Given the description of an element on the screen output the (x, y) to click on. 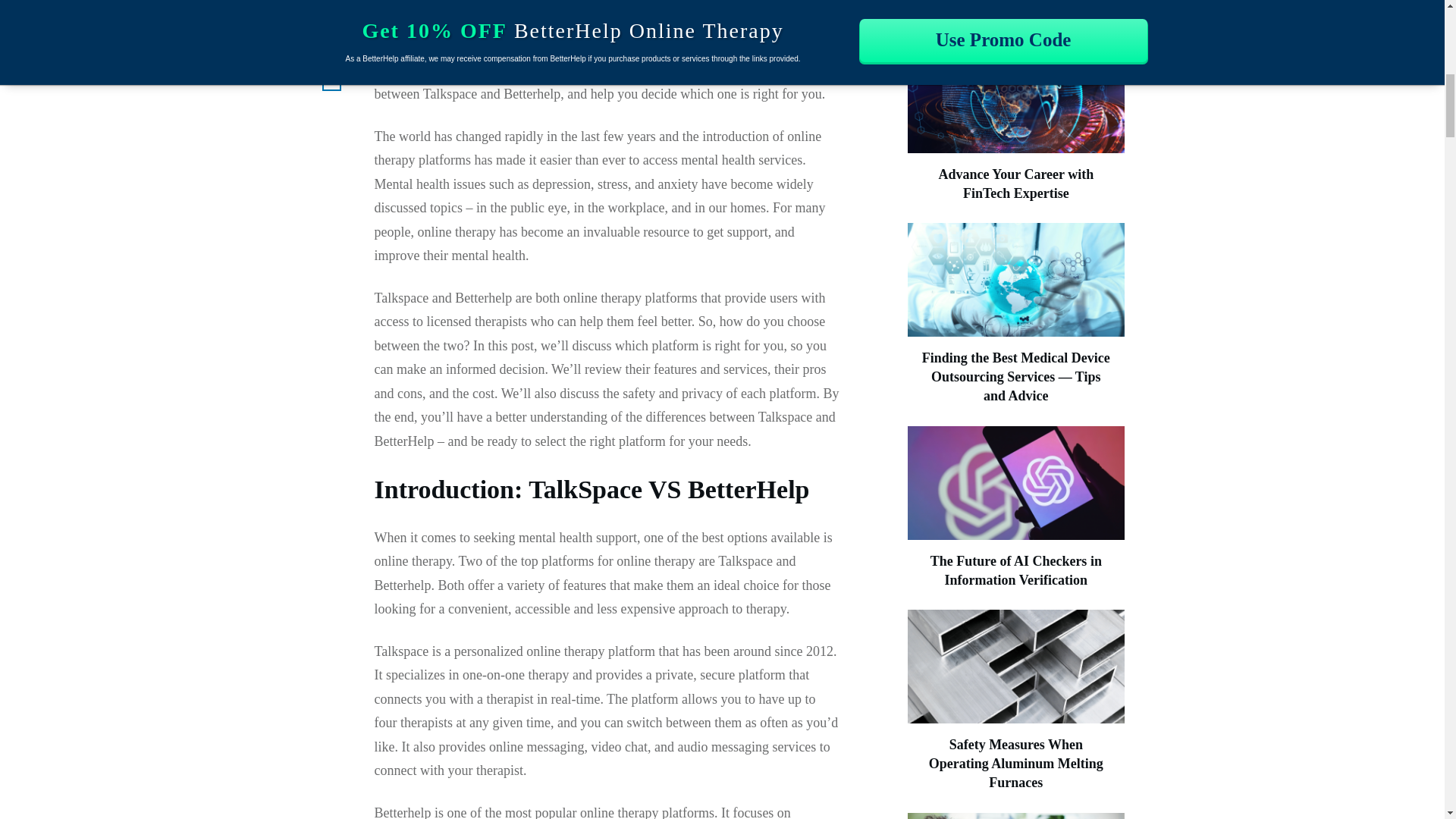
Betterhelp (706, 22)
Advance Your Career with FinTech Expertise (1015, 183)
